Given the description of an element on the screen output the (x, y) to click on. 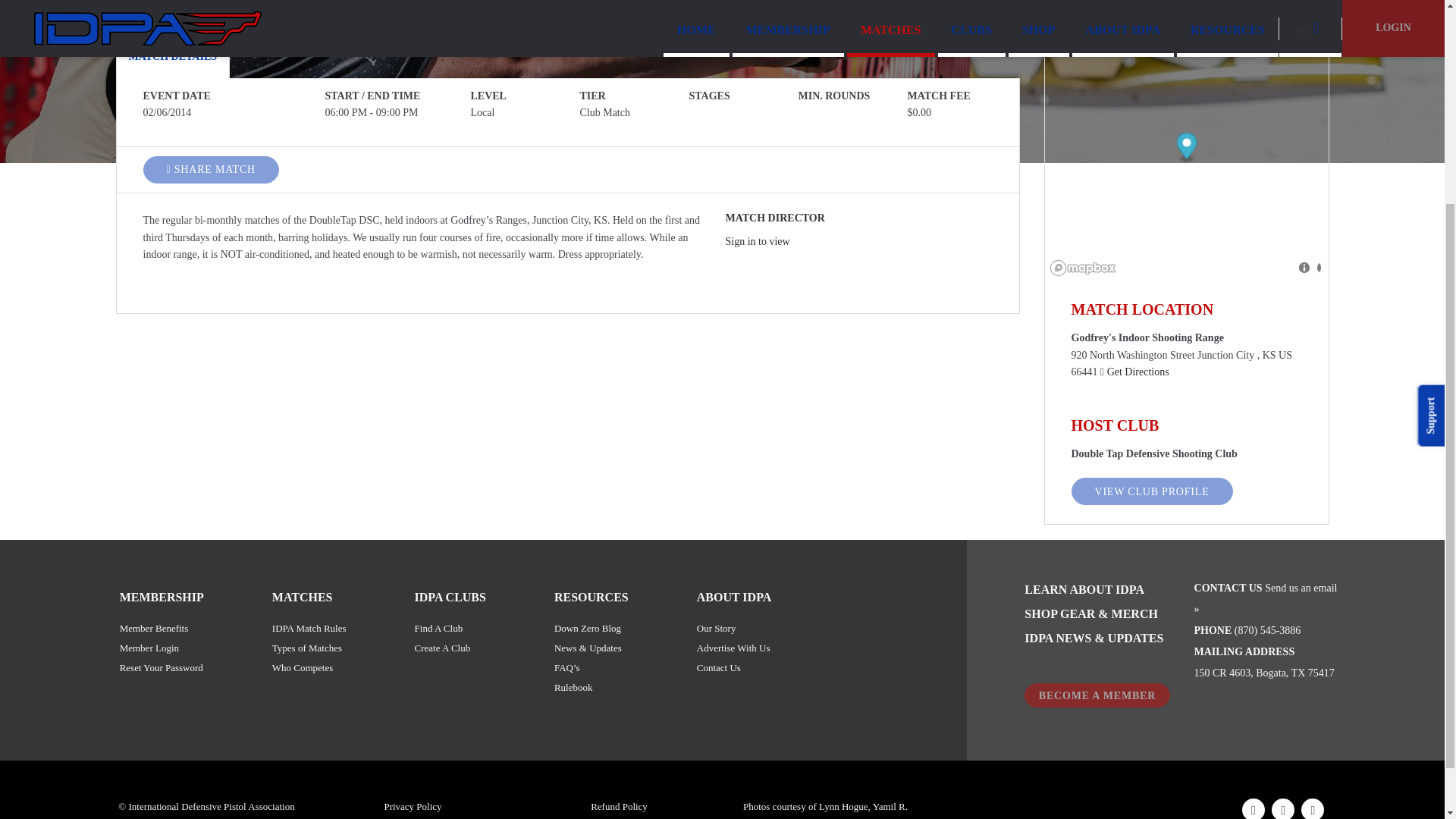
Toggle attribution (1307, 267)
